Given the description of an element on the screen output the (x, y) to click on. 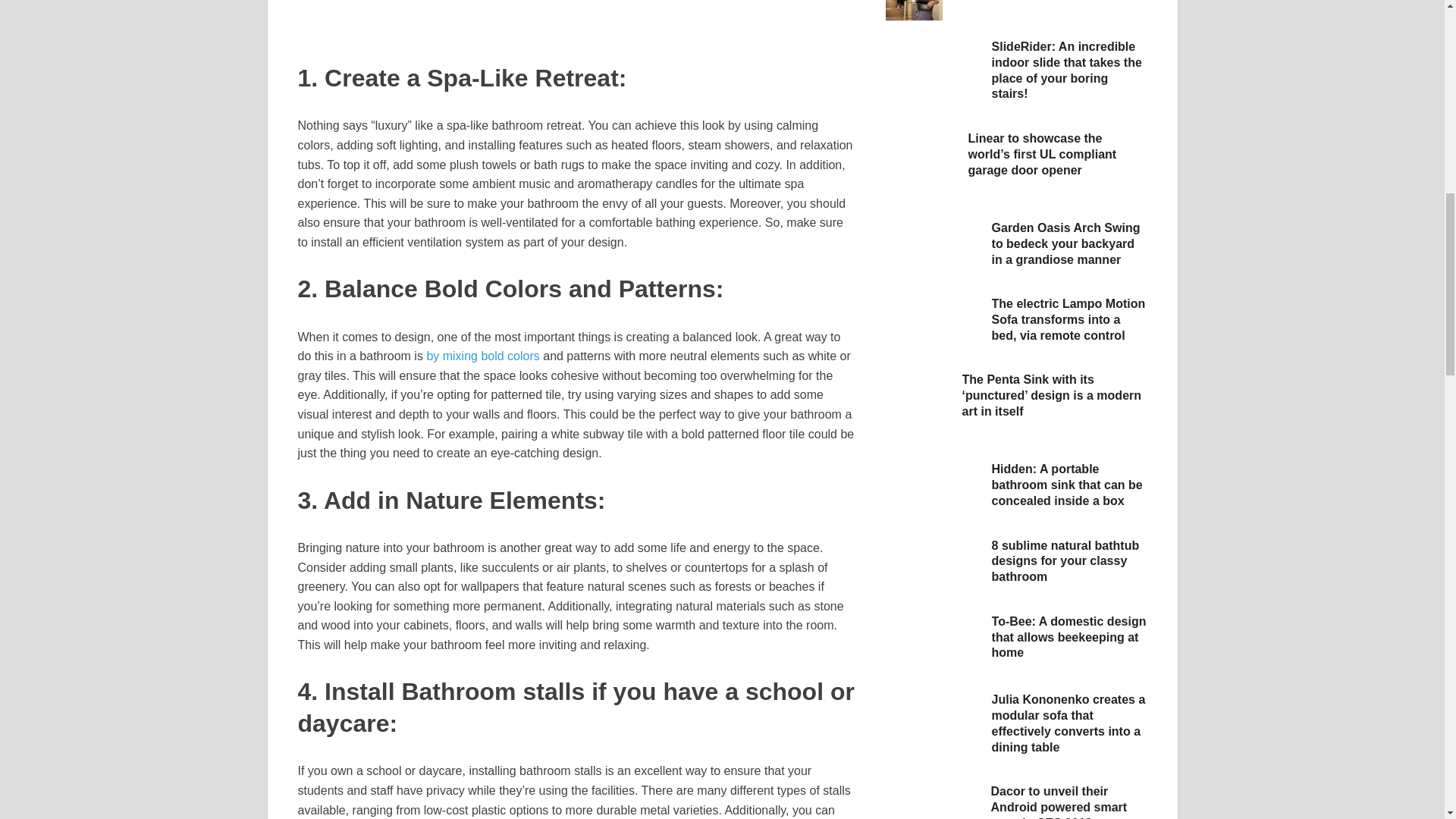
by mixing bold colors (482, 355)
